Given the description of an element on the screen output the (x, y) to click on. 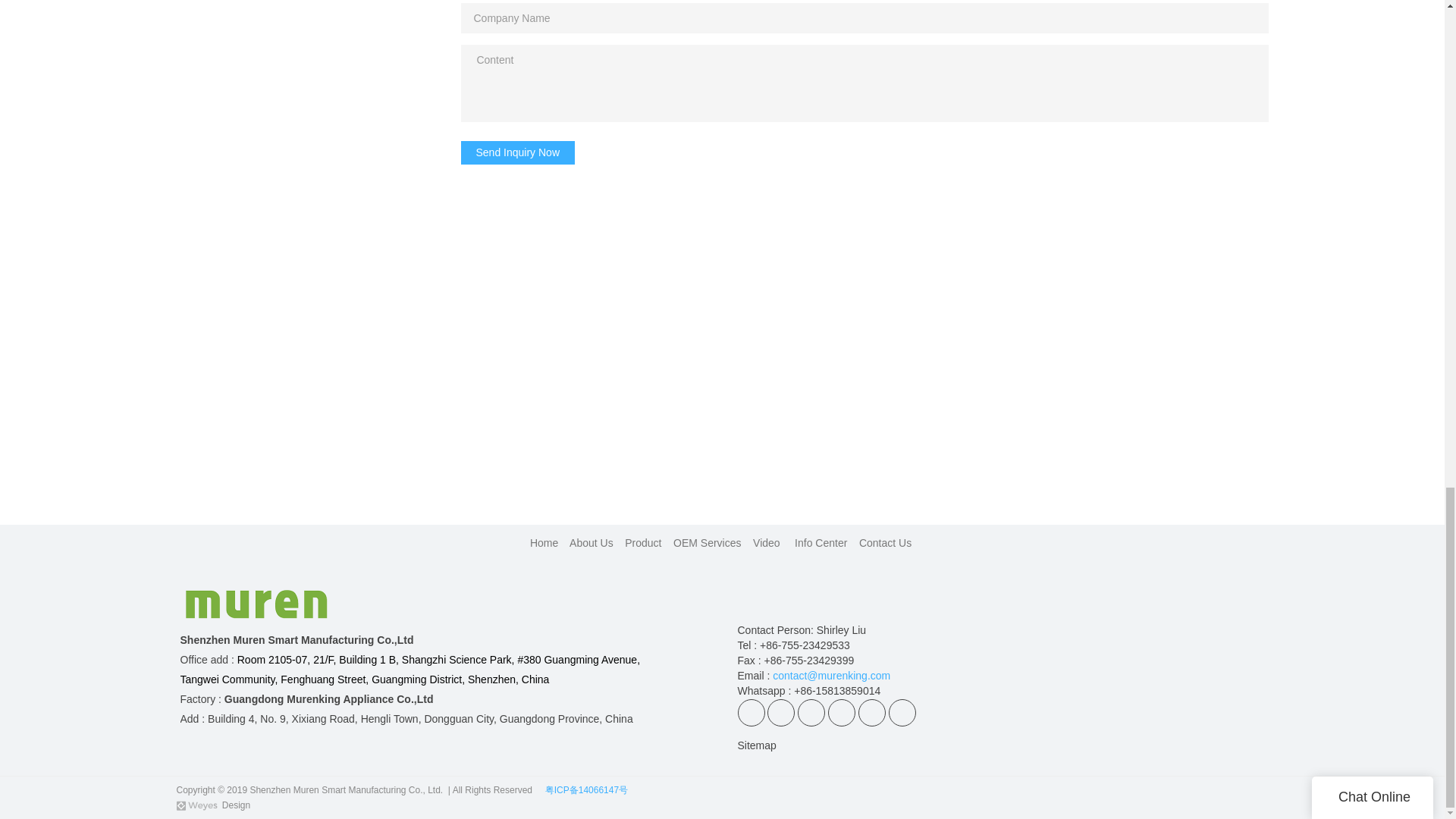
Send Inquiry Now (518, 152)
